Given the description of an element on the screen output the (x, y) to click on. 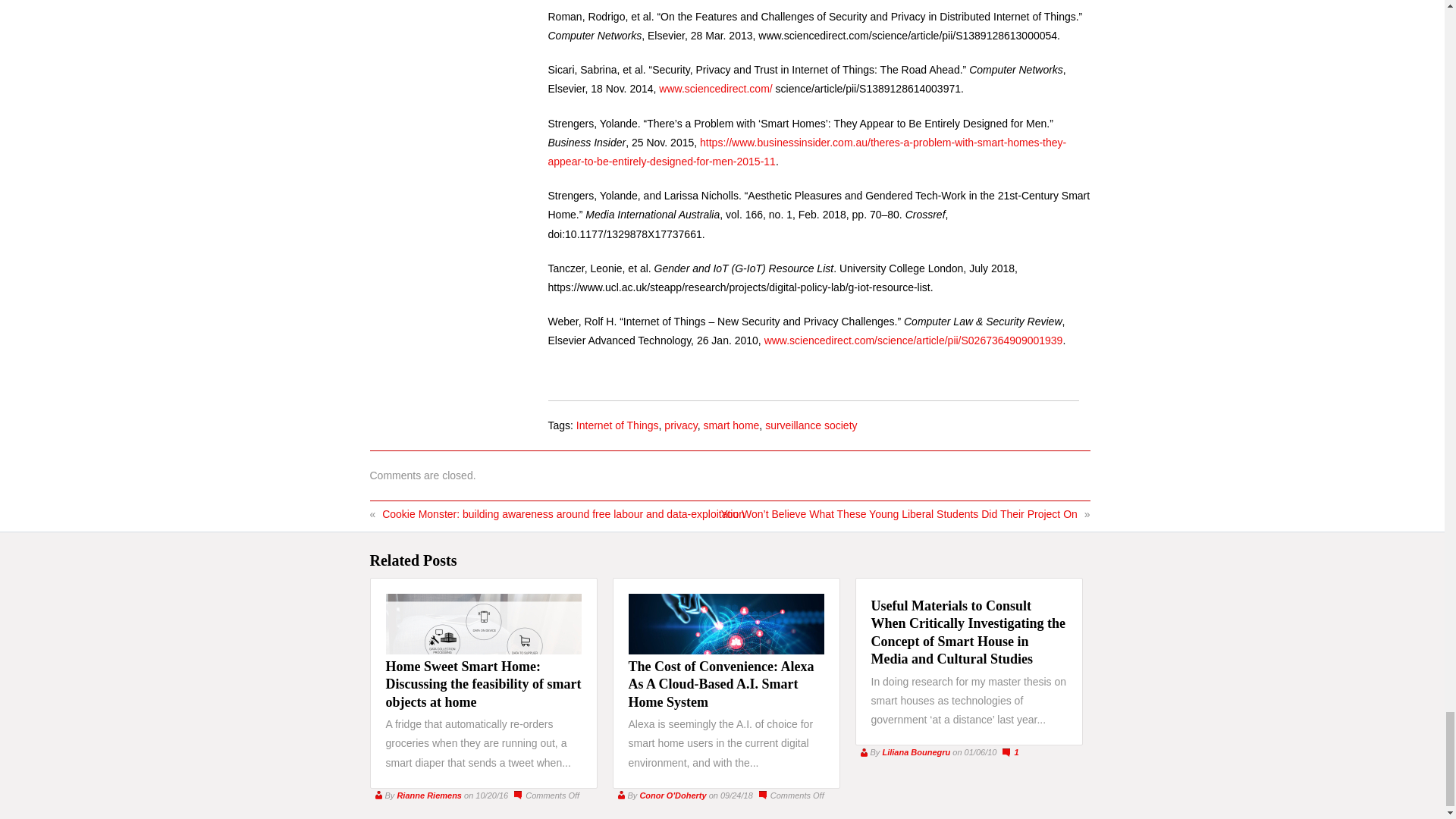
Read Post (482, 684)
Read Post (967, 632)
Read Post (720, 684)
Posts by Conor O'Doherty (672, 795)
Posts by Liliana Bounegru (916, 751)
Posts by Rianne Riemens (428, 795)
